Given the description of an element on the screen output the (x, y) to click on. 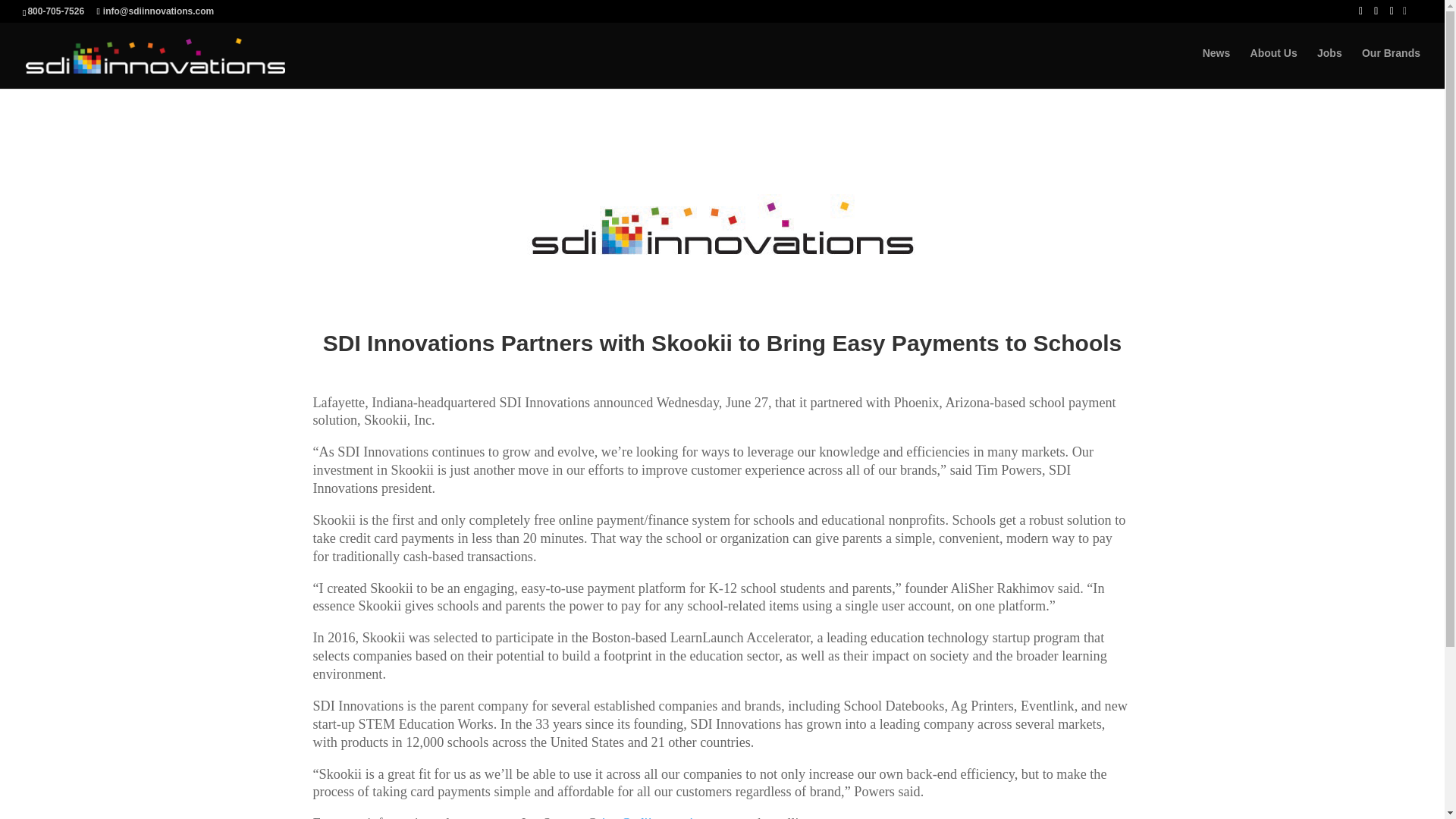
Jobs (1329, 59)
Our Brands (1391, 59)
News (1216, 59)
About Us (1273, 59)
